Given the description of an element on the screen output the (x, y) to click on. 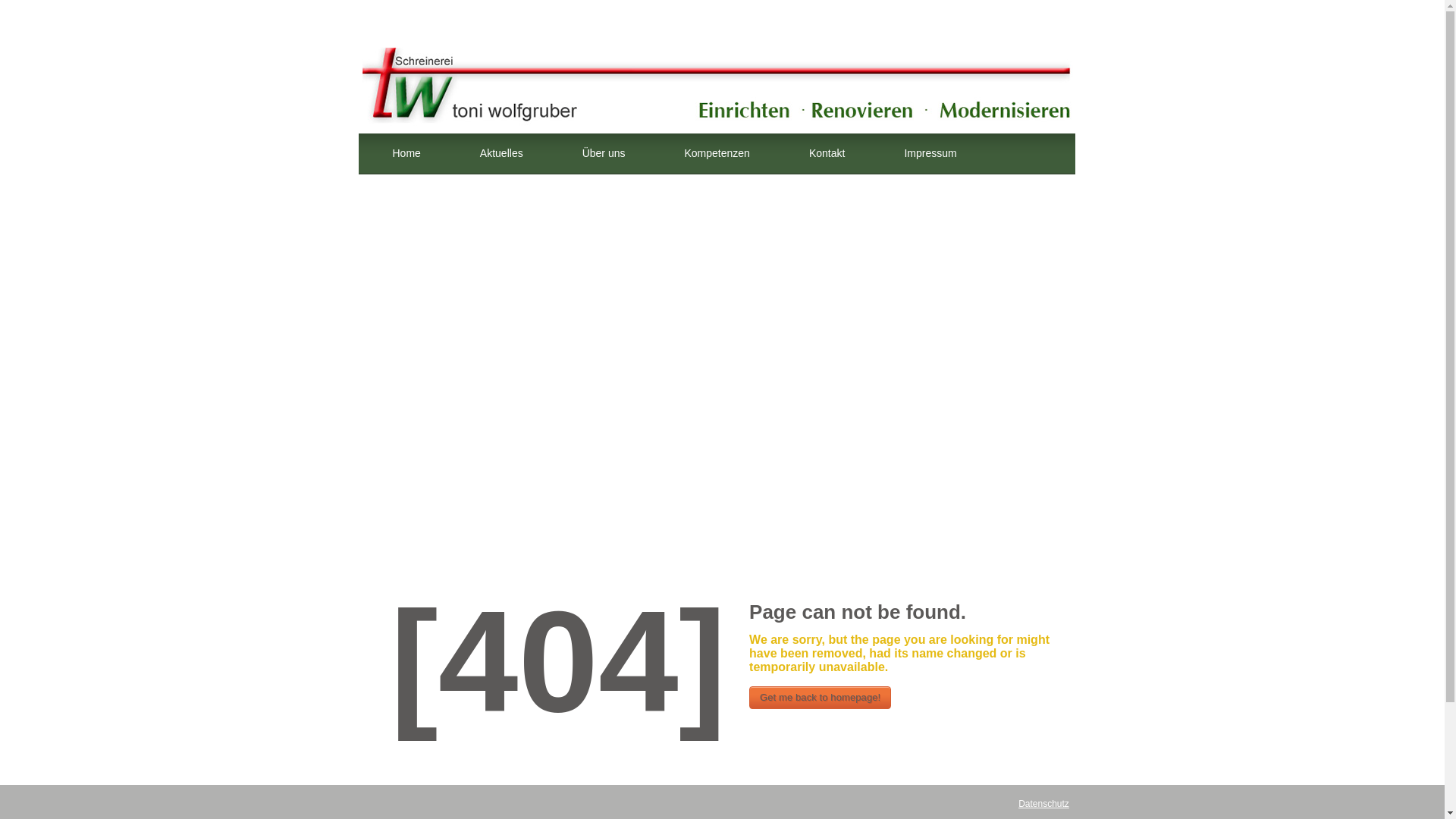
search (1034, 173)
Kompetenzen (716, 153)
Aktuelles (501, 153)
Datenschutz (1042, 803)
Home (406, 153)
Kontakt (826, 153)
Impressum (930, 153)
Get me back to homepage! (820, 697)
search (1034, 173)
